Given the description of an element on the screen output the (x, y) to click on. 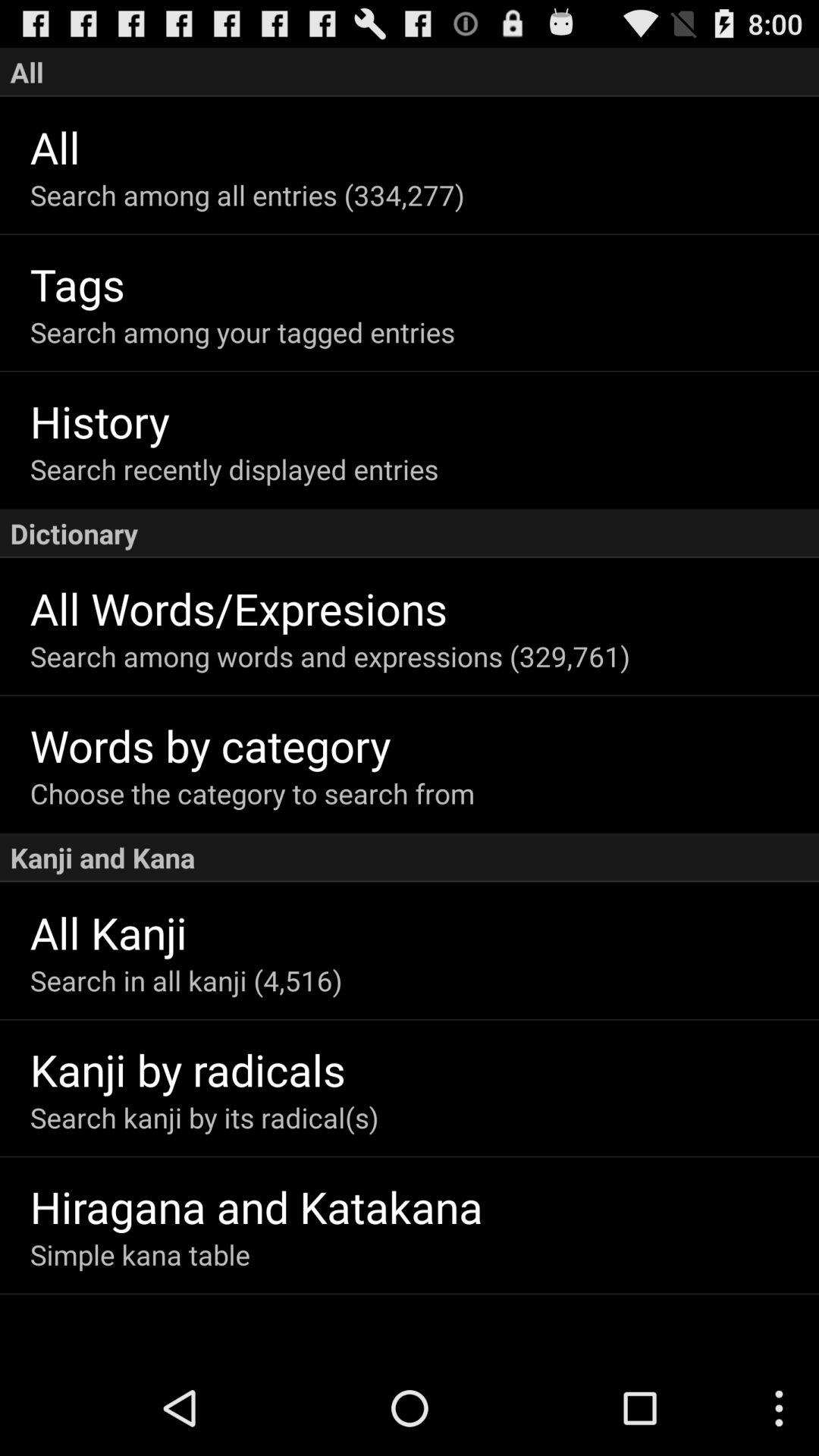
tap item above choose the category app (424, 745)
